Given the description of an element on the screen output the (x, y) to click on. 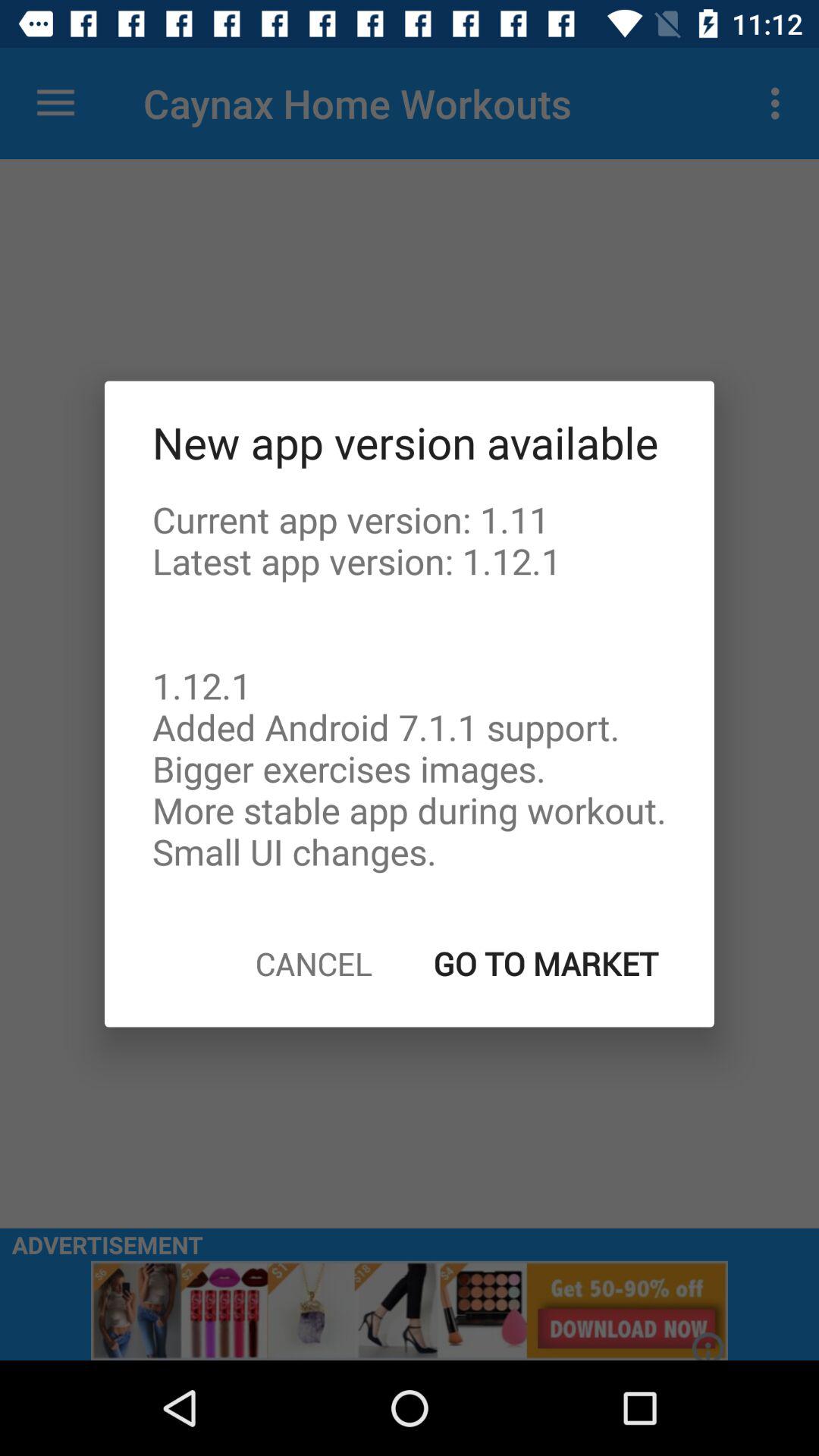
choose go to market on the right (545, 963)
